Given the description of an element on the screen output the (x, y) to click on. 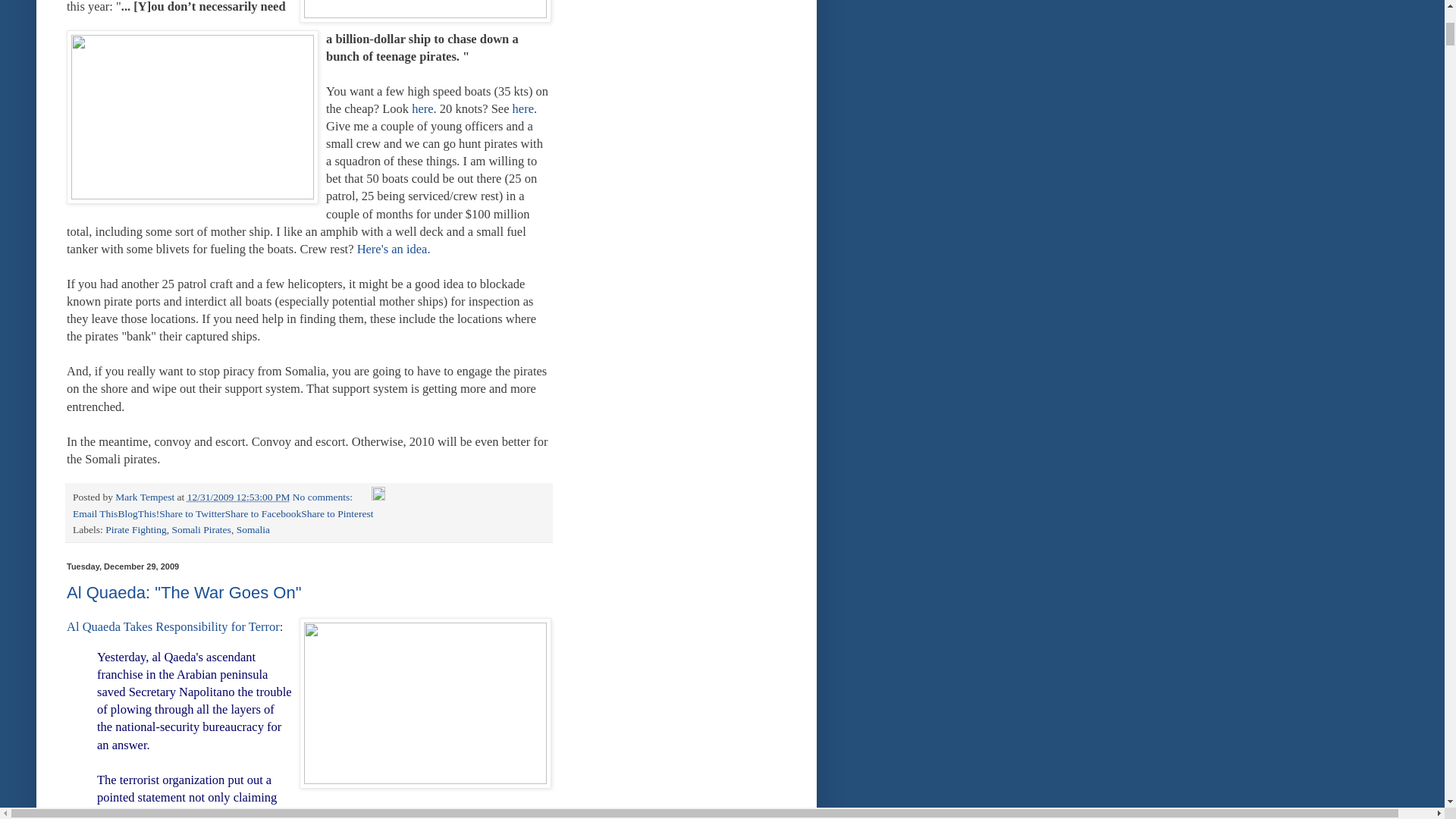
Pirate Fighting (135, 529)
Share to Twitter (191, 513)
Somalia (252, 529)
permanent link (238, 496)
Email Post (363, 496)
Share to Facebook (263, 513)
Edit Post (378, 496)
Share to Pinterest (336, 513)
here (523, 108)
No comments: (323, 496)
Share to Twitter (191, 513)
Email This (94, 513)
Al Quaeda: "The War Goes On" (183, 592)
Share to Pinterest (336, 513)
Mark Tempest (145, 496)
